Given the description of an element on the screen output the (x, y) to click on. 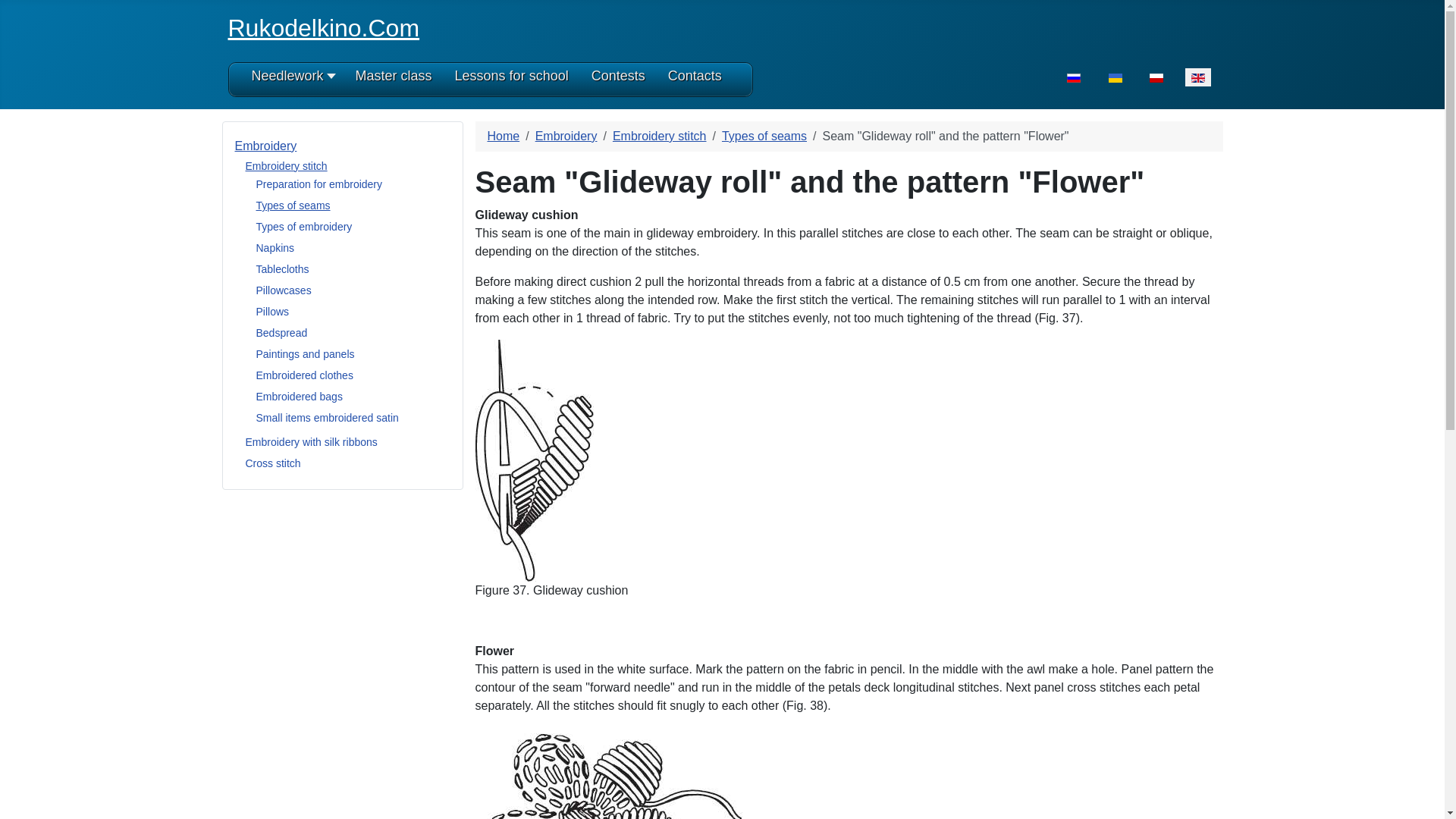
Master class (393, 80)
Preparation for embroidery (319, 184)
Rukodelkino.Com (323, 27)
Embroidered clothes (304, 375)
Polish (1156, 77)
Contacts (695, 80)
Needlework (292, 80)
Lessons for school (511, 80)
Bedspread (281, 332)
Napkins (275, 247)
